Given the description of an element on the screen output the (x, y) to click on. 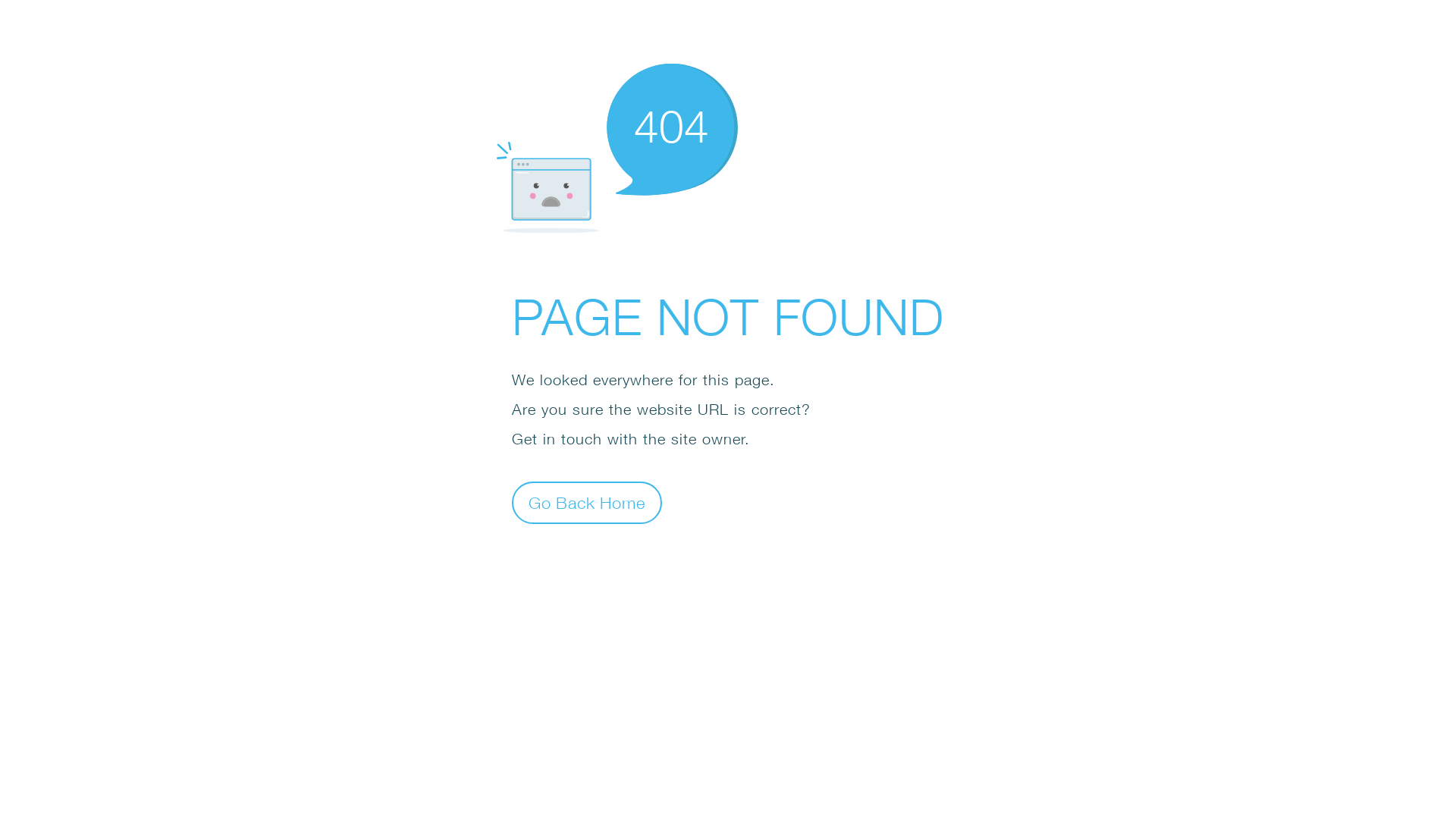
Go Back Home Element type: text (586, 502)
